Given the description of an element on the screen output the (x, y) to click on. 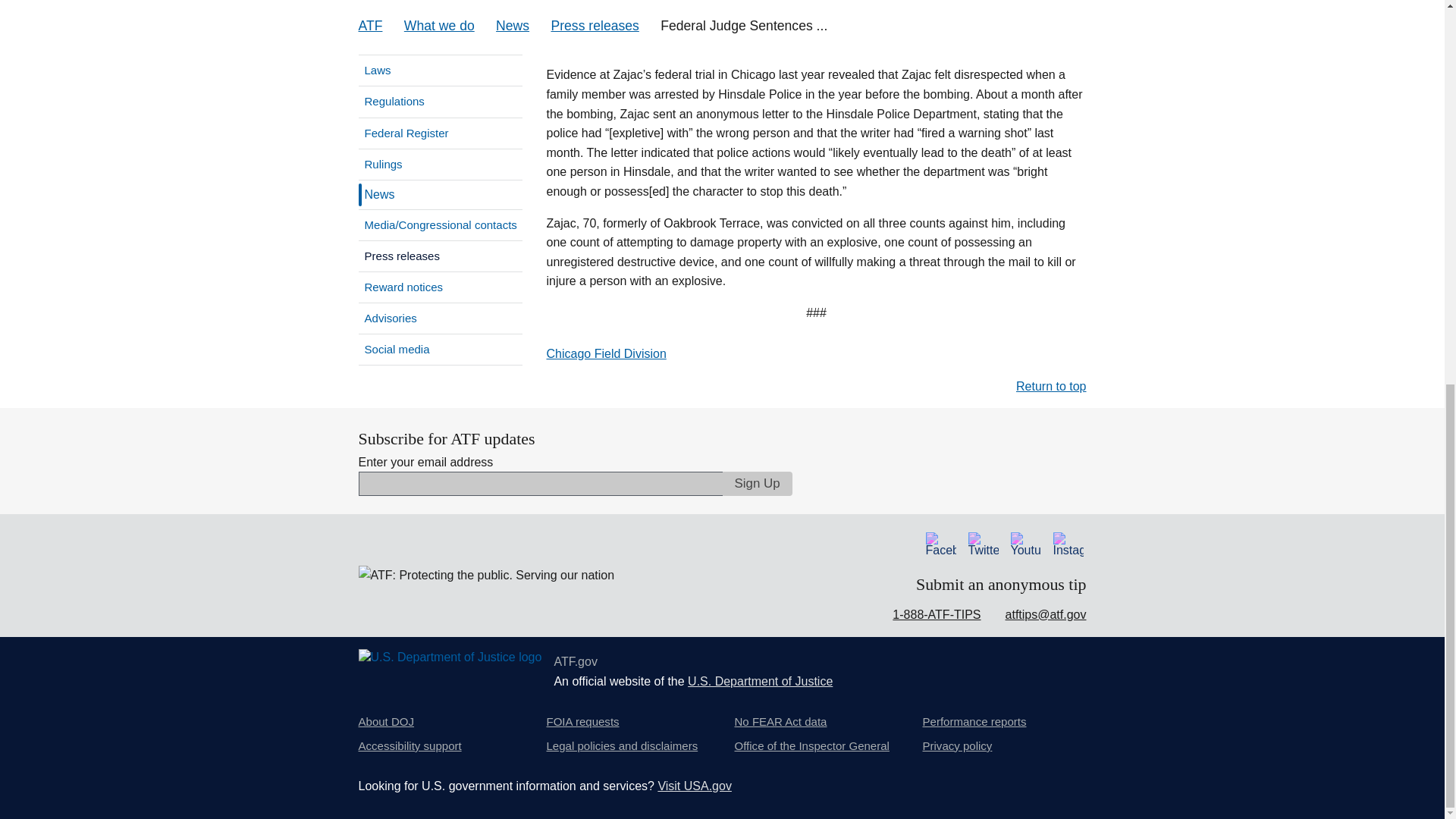
News (377, 194)
Rapid response teams (439, 11)
Regulations (439, 101)
Rulings (439, 164)
Federal Register (439, 132)
Laws (439, 70)
Training for law enforcement (439, 39)
